Given the description of an element on the screen output the (x, y) to click on. 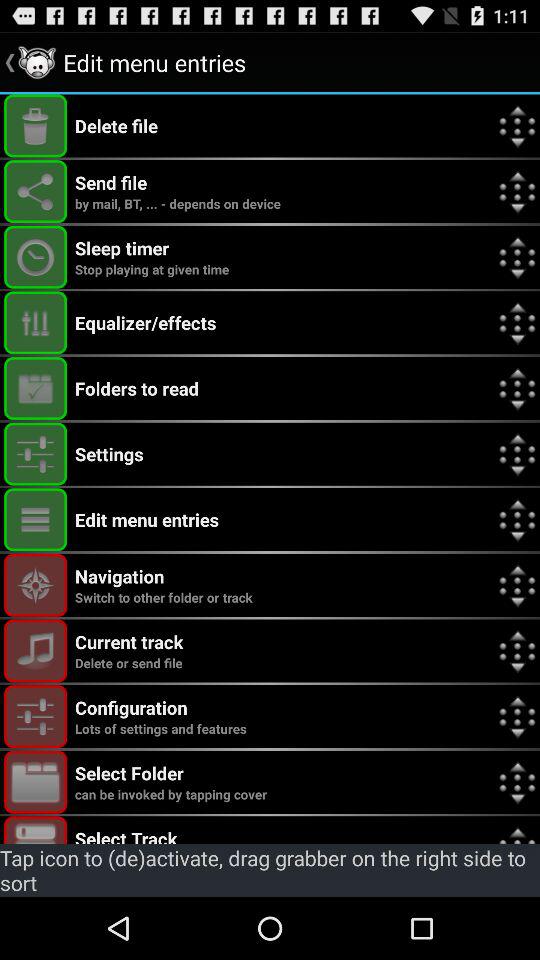
change menu settings (35, 453)
